Given the description of an element on the screen output the (x, y) to click on. 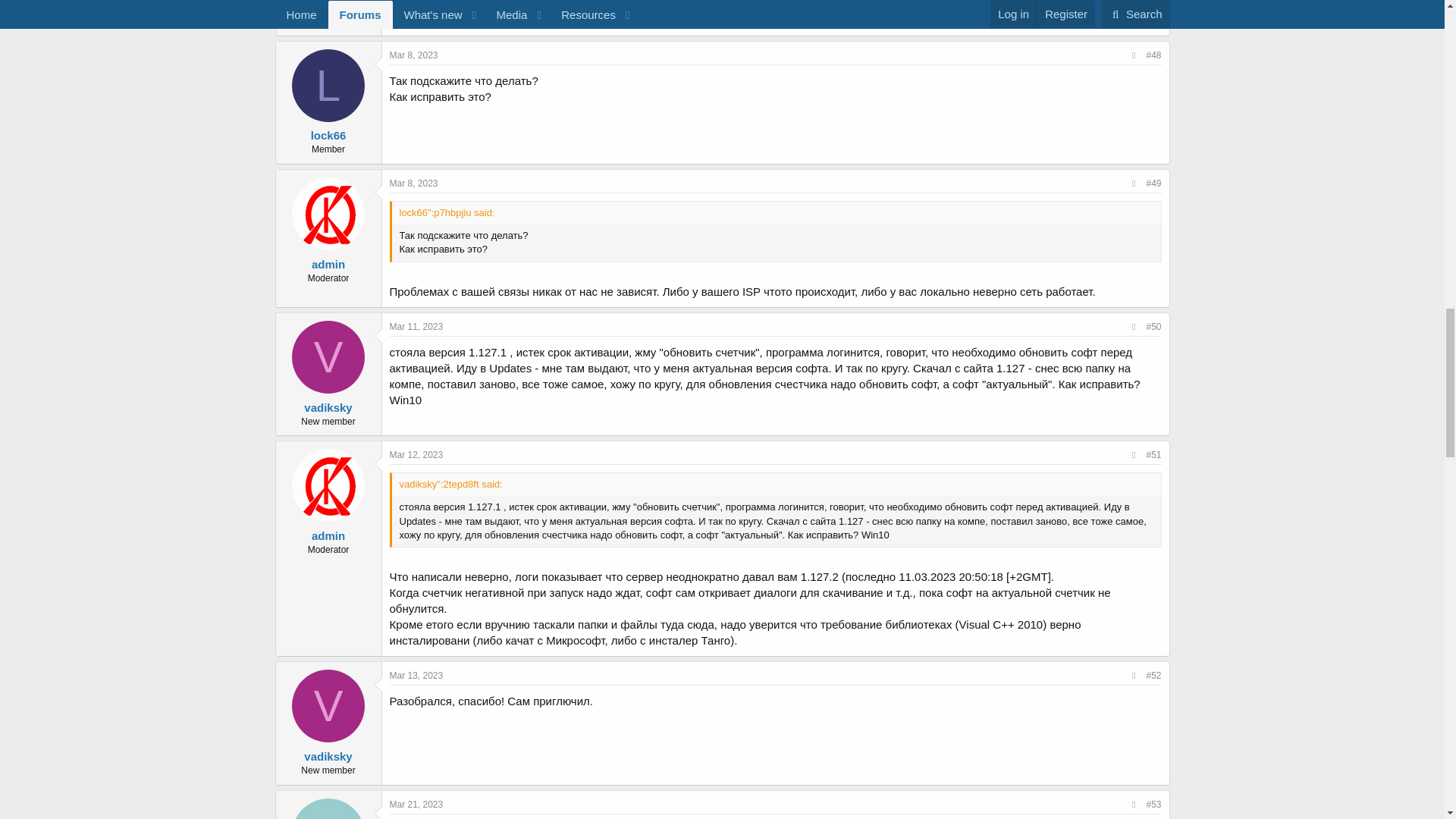
Mar 8, 2023 at 2:11 PM (414, 183)
Mar 13, 2023 at 7:57 AM (417, 675)
Mar 11, 2023 at 6:51 PM (417, 326)
Mar 12, 2023 at 4:17 PM (417, 454)
Mar 8, 2023 at 1:46 PM (414, 54)
